Given the description of an element on the screen output the (x, y) to click on. 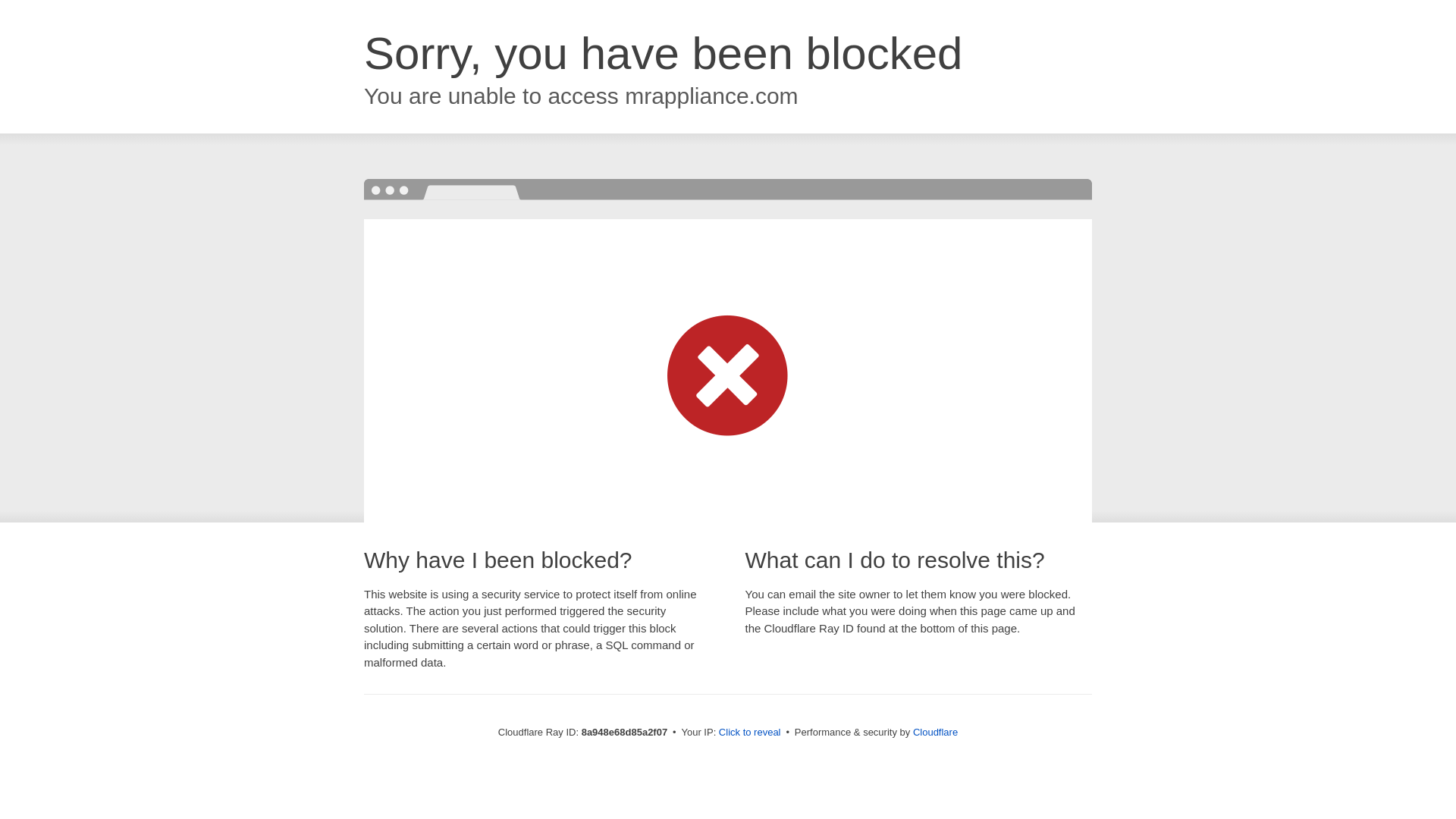
Click to reveal (749, 732)
Cloudflare (935, 731)
